Given the description of an element on the screen output the (x, y) to click on. 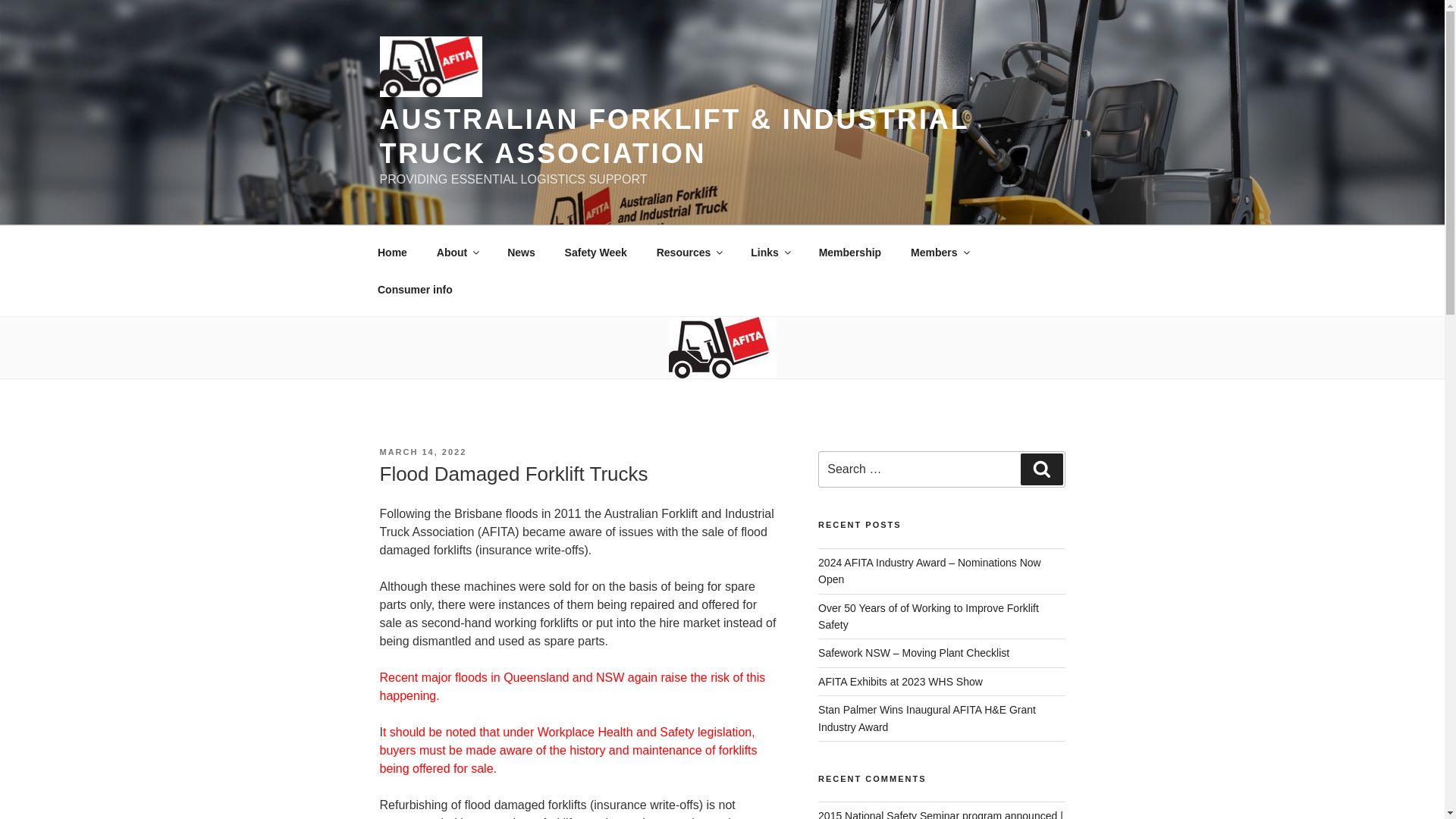
Resources (689, 252)
MARCH 14, 2022 (421, 451)
Links (770, 252)
Consumer info (414, 289)
Home (392, 252)
Members (939, 252)
News (521, 252)
Membership (849, 252)
About (456, 252)
Safety Week (595, 252)
